Given the description of an element on the screen output the (x, y) to click on. 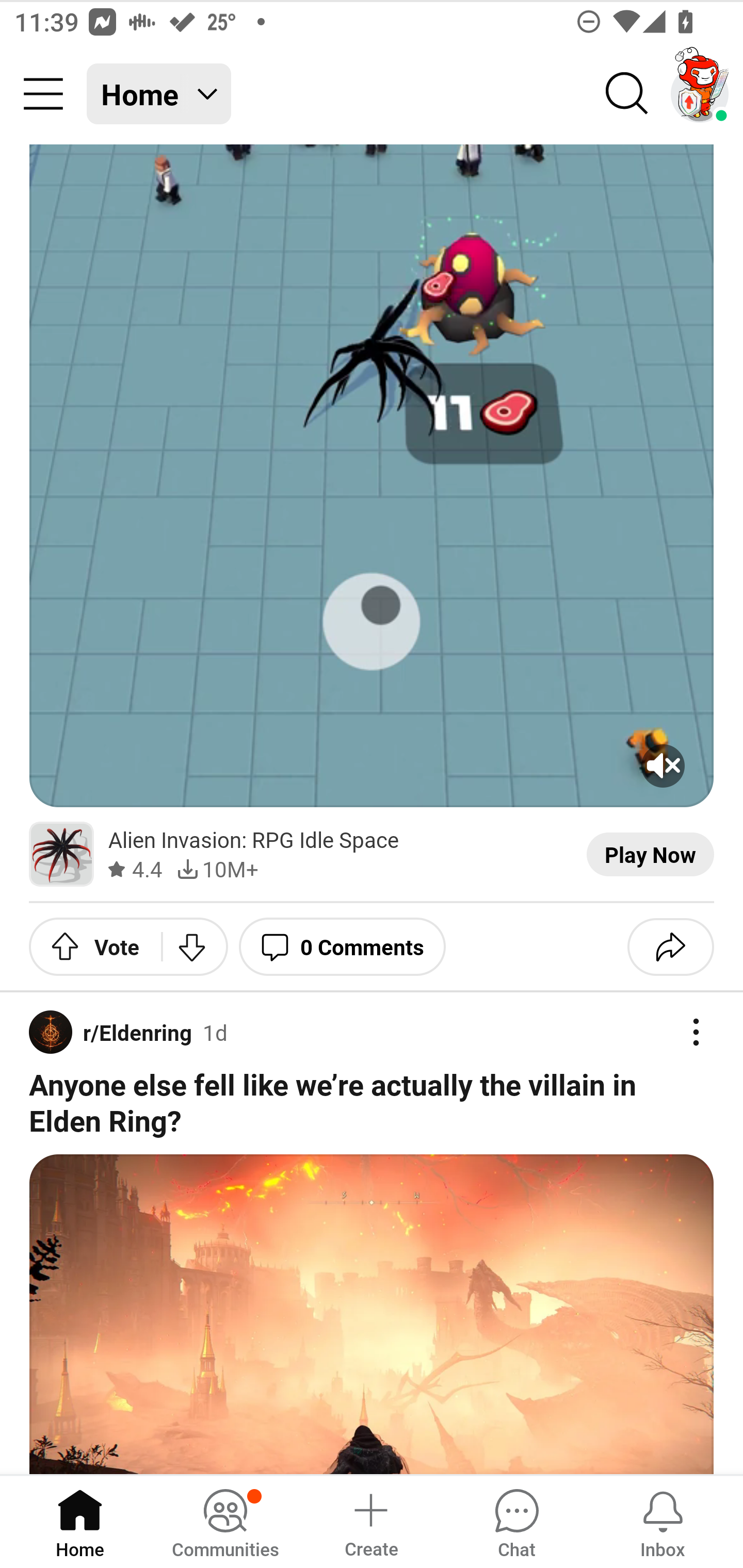
Community menu (43, 93)
Home Home feed (158, 93)
Search (626, 93)
TestAppium002 account (699, 93)
Unmute (371, 475)
Unmute (663, 765)
Home (80, 1520)
Communities, has notifications Communities (225, 1520)
Create a post Create (370, 1520)
Chat (516, 1520)
Inbox (662, 1520)
